Given the description of an element on the screen output the (x, y) to click on. 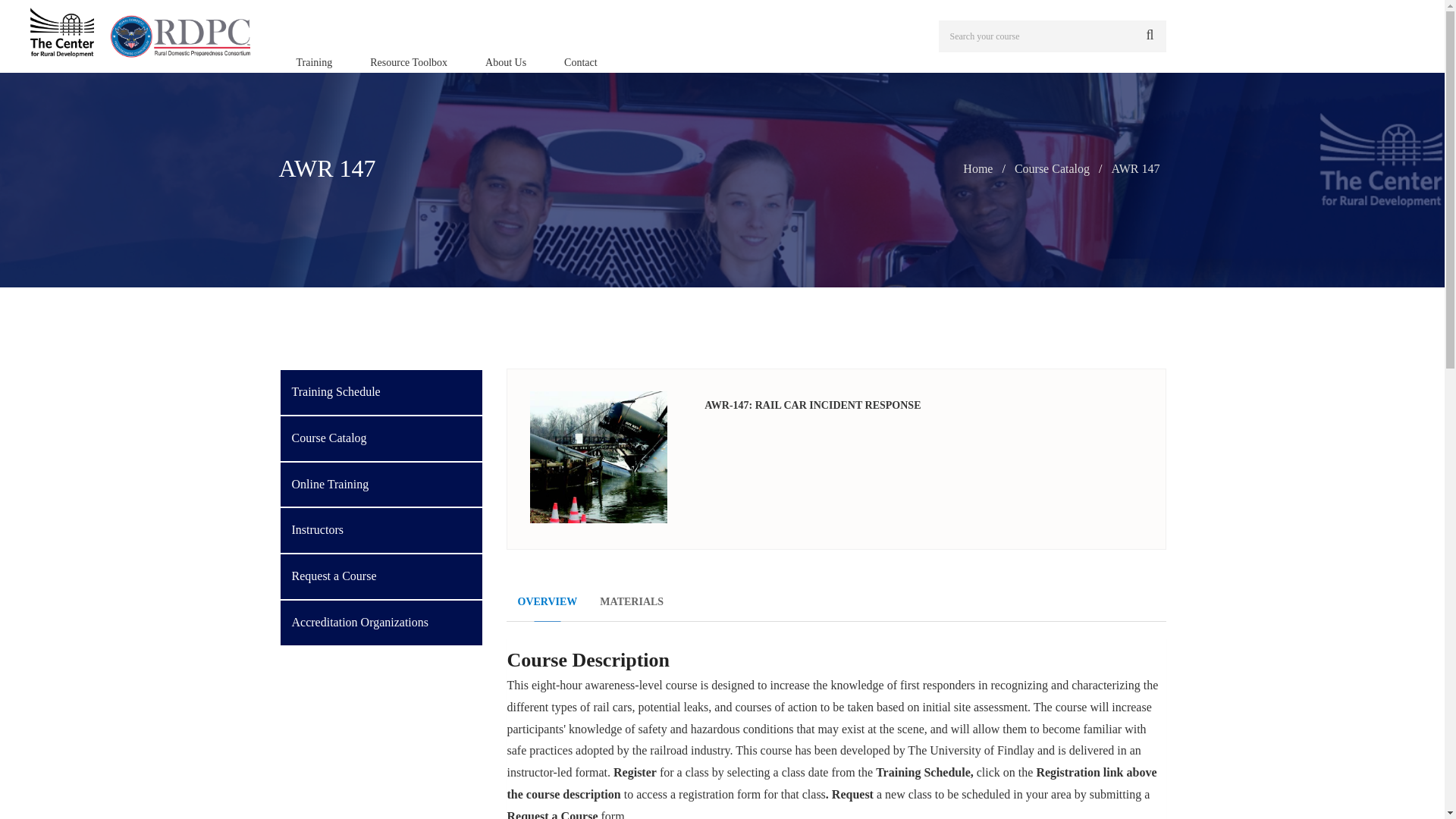
About Us (505, 62)
Training (314, 62)
Contact (580, 62)
Resource Toolbox (408, 62)
